Given the description of an element on the screen output the (x, y) to click on. 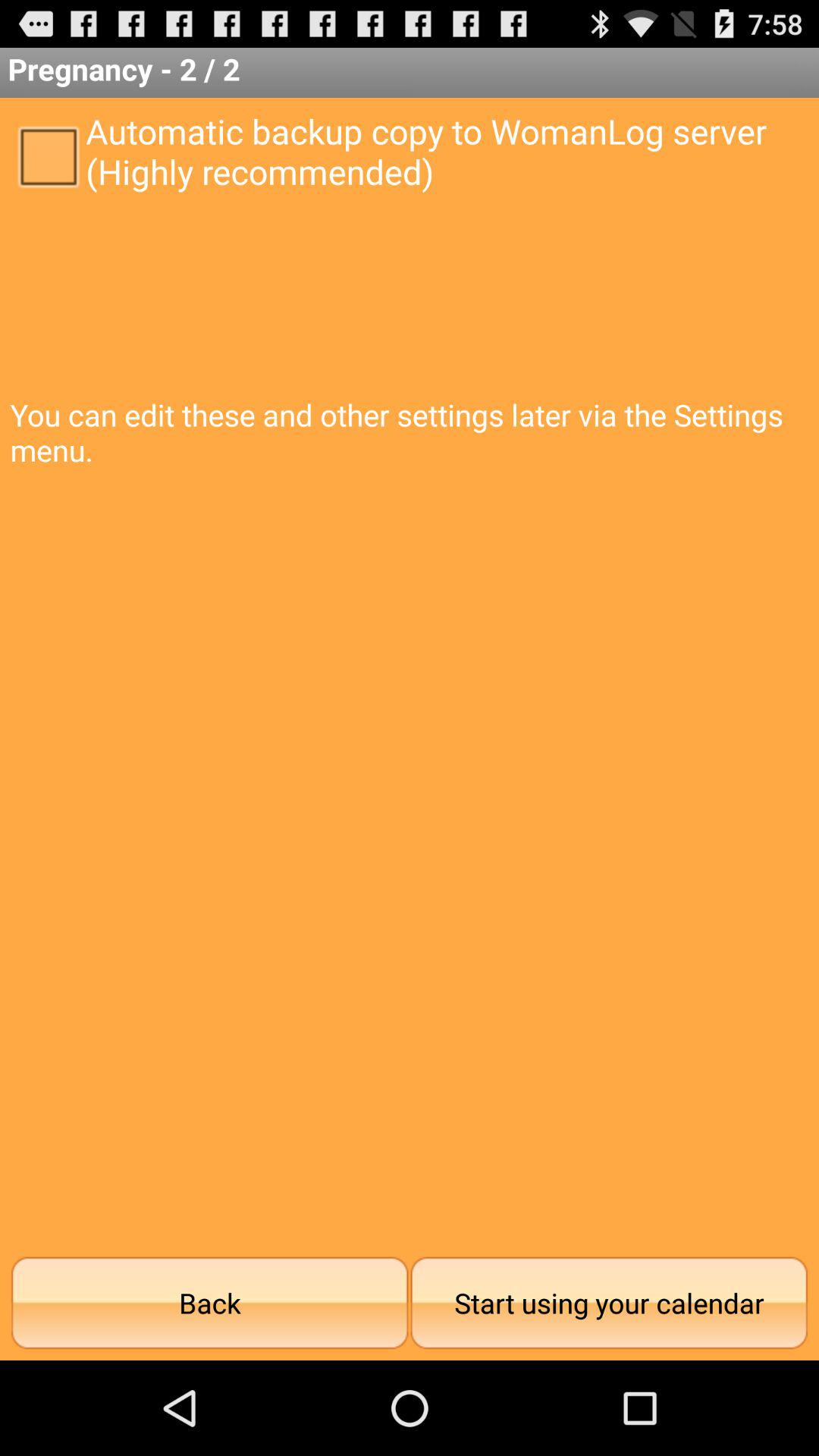
launch the button to the right of back (608, 1302)
